Given the description of an element on the screen output the (x, y) to click on. 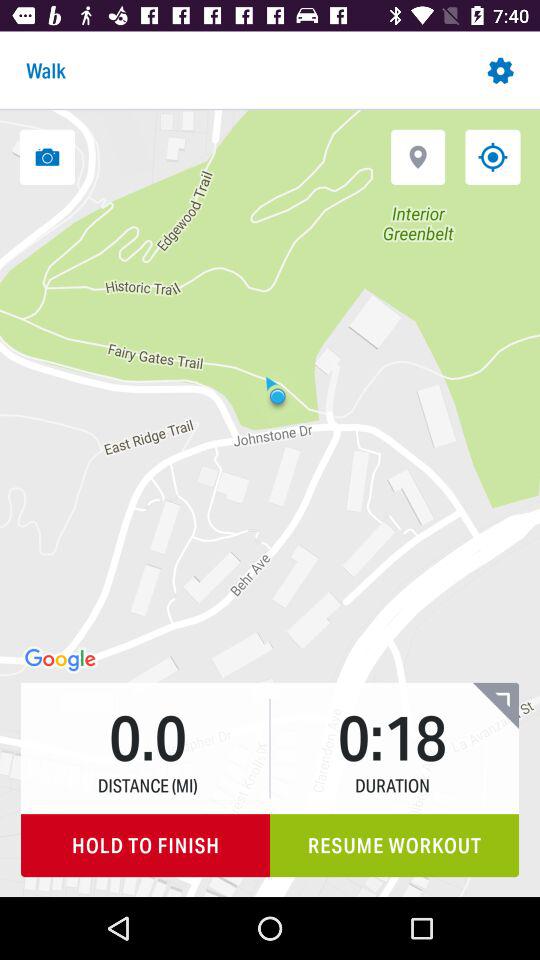
click on resume workout (394, 845)
click on google (61, 660)
click on icon above interior greenbelt (417, 157)
